Given the description of an element on the screen output the (x, y) to click on. 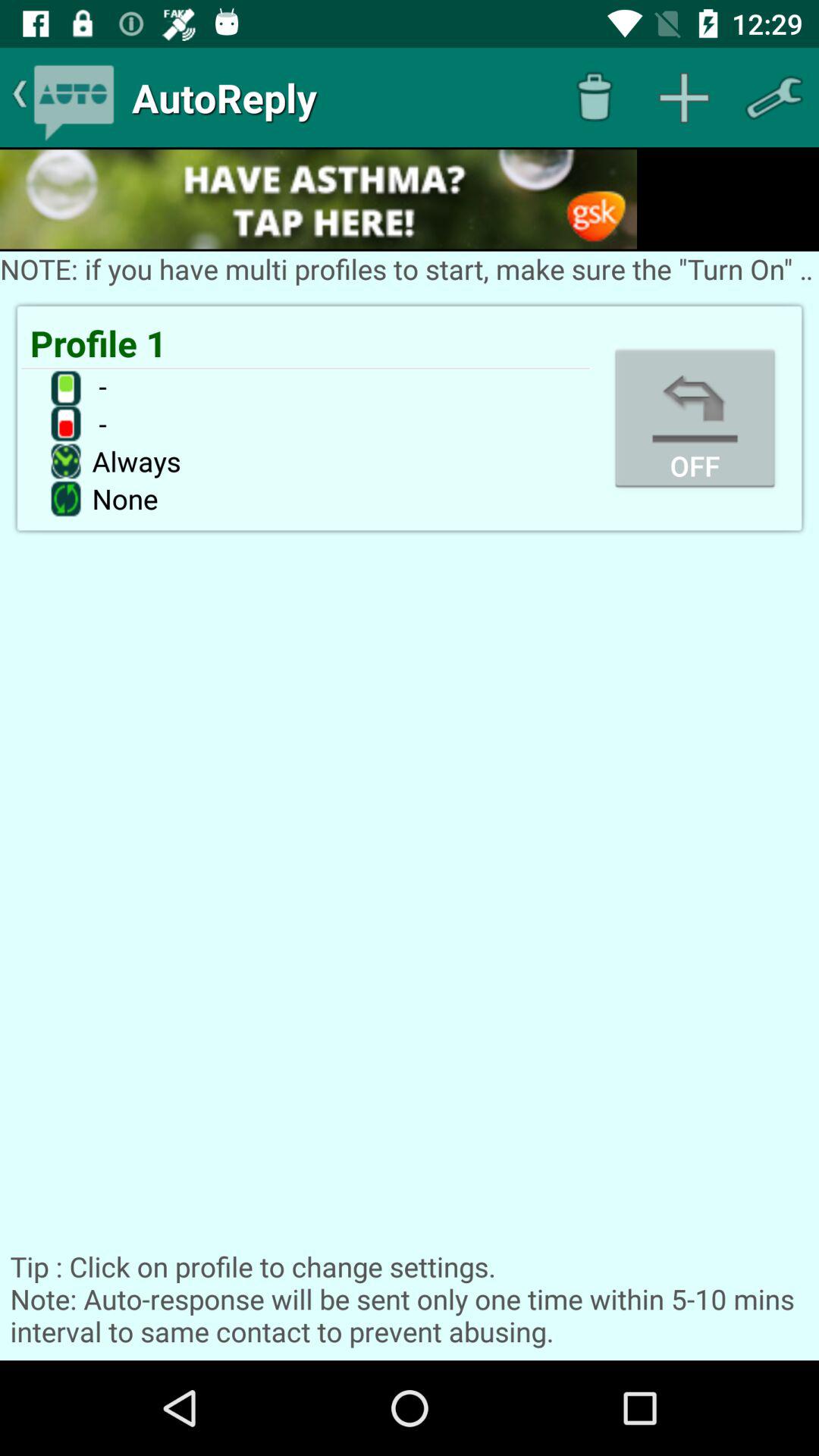
go to setting option (774, 97)
